Given the description of an element on the screen output the (x, y) to click on. 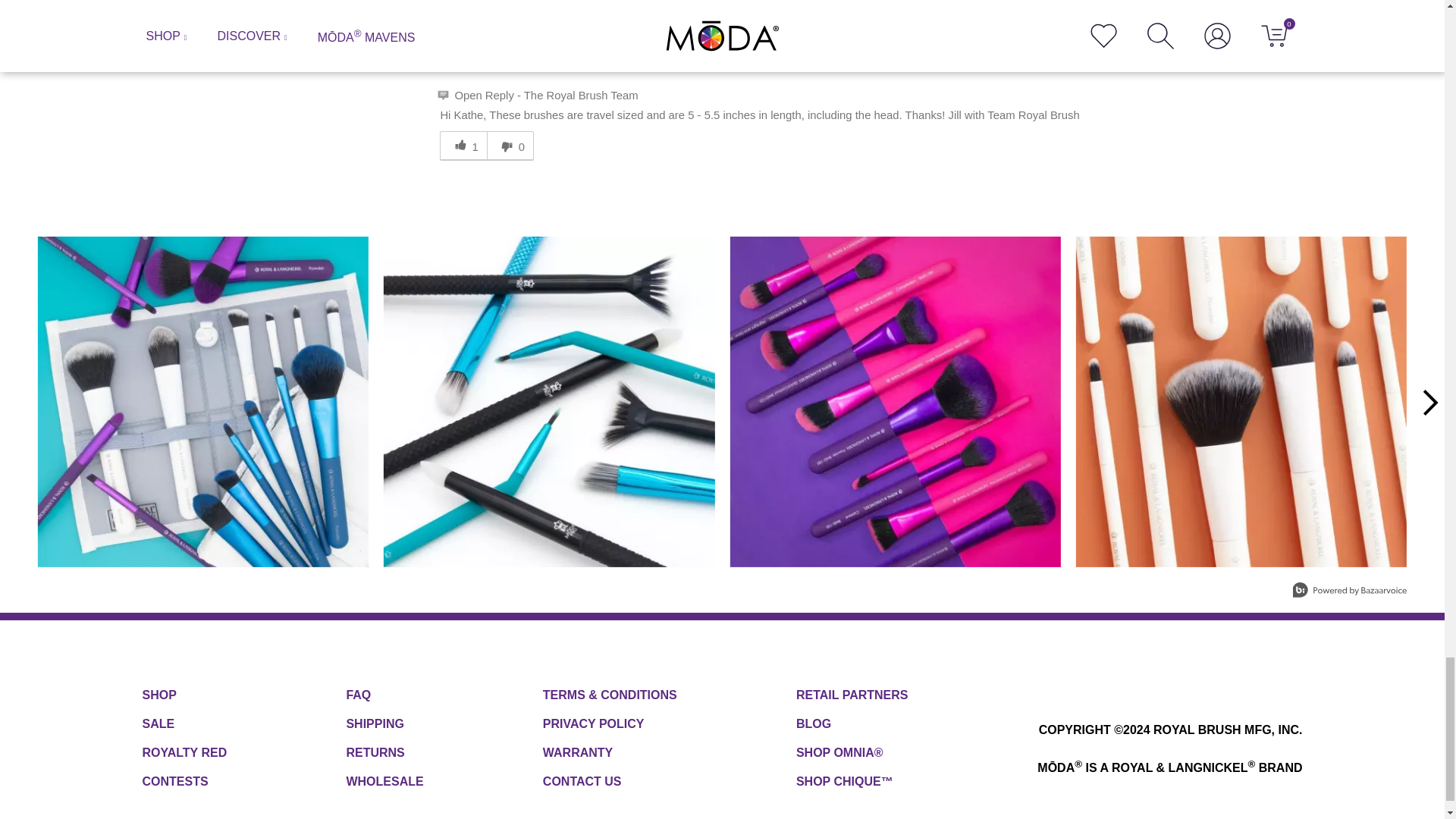
Question (427, 24)
